Given the description of an element on the screen output the (x, y) to click on. 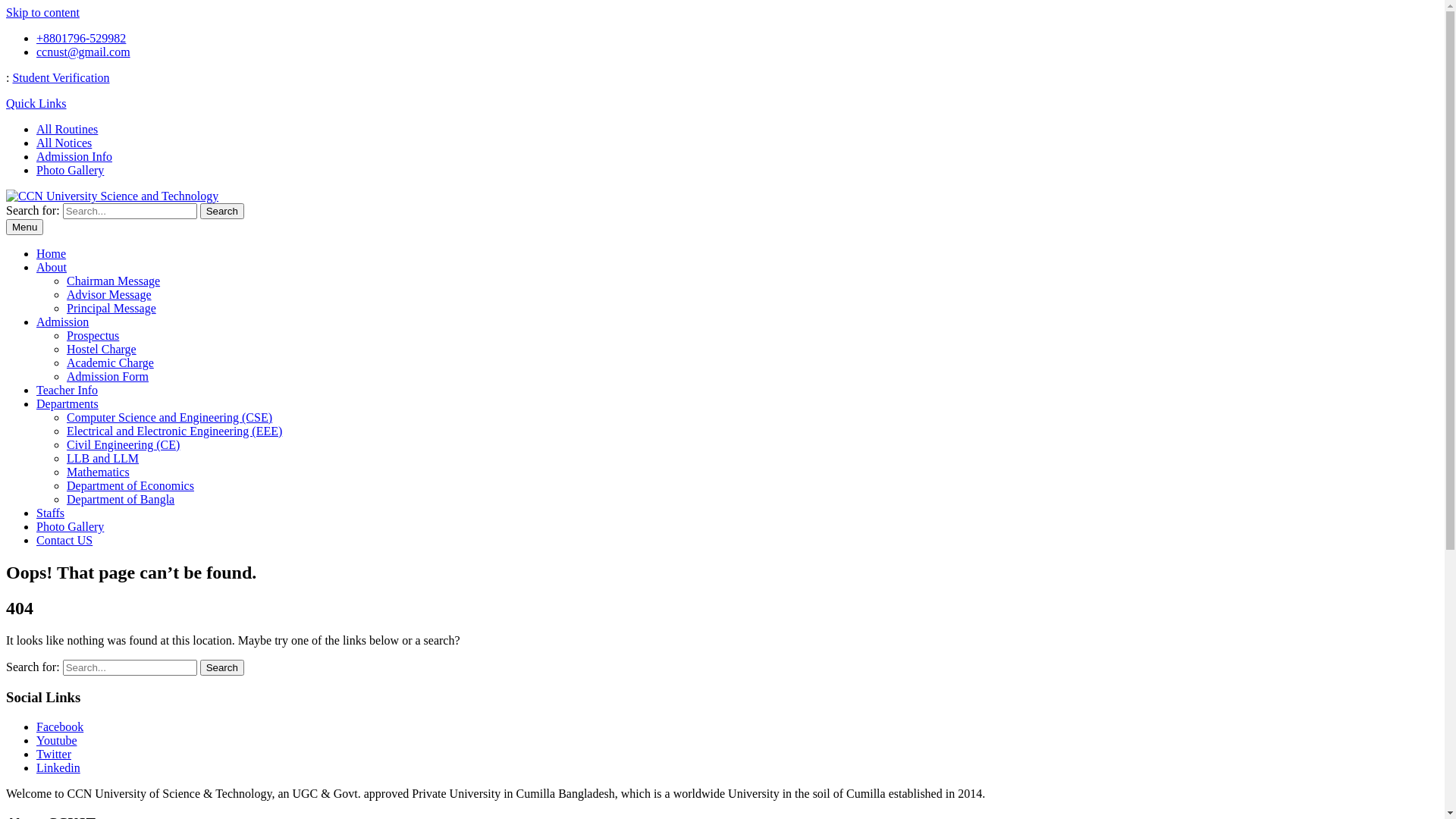
Civil Engineering (CE) Element type: text (122, 444)
Photo Gallery Element type: text (69, 169)
Department of Economics Element type: text (130, 485)
Electrical and Electronic Engineering (EEE) Element type: text (174, 430)
All Routines Element type: text (66, 128)
Admission Form Element type: text (107, 376)
Skip to content Element type: text (42, 12)
Departments Element type: text (67, 403)
Staffs Element type: text (50, 512)
Search Element type: text (222, 211)
Contact US Element type: text (64, 539)
Department of Bangla Element type: text (120, 498)
Academic Charge Element type: text (109, 362)
Search for: Element type: hover (129, 667)
Hostel Charge Element type: text (101, 348)
Principal Message Element type: text (111, 307)
About Element type: text (51, 266)
Linkedin Element type: text (58, 767)
Search for: Element type: hover (129, 211)
Computer Science and Engineering (CSE) Element type: text (169, 417)
Prospectus Element type: text (92, 335)
ccnust@gmail.com Element type: text (83, 51)
Search Element type: text (222, 667)
Facebook Element type: text (59, 726)
Quick Links Element type: text (36, 103)
LLB and LLM Element type: text (102, 457)
Menu Element type: text (24, 227)
Teacher Info Element type: text (66, 389)
Mathematics Element type: text (97, 471)
Home Element type: text (50, 253)
All Notices Element type: text (63, 142)
Photo Gallery Element type: text (69, 526)
Twitter Element type: text (53, 753)
Youtube Element type: text (56, 740)
Advisor Message Element type: text (108, 294)
+8801796-529982 Element type: text (80, 37)
Chairman Message Element type: text (113, 280)
Student Verification Element type: text (60, 77)
Admission Info Element type: text (74, 156)
Admission Element type: text (62, 321)
